Given the description of an element on the screen output the (x, y) to click on. 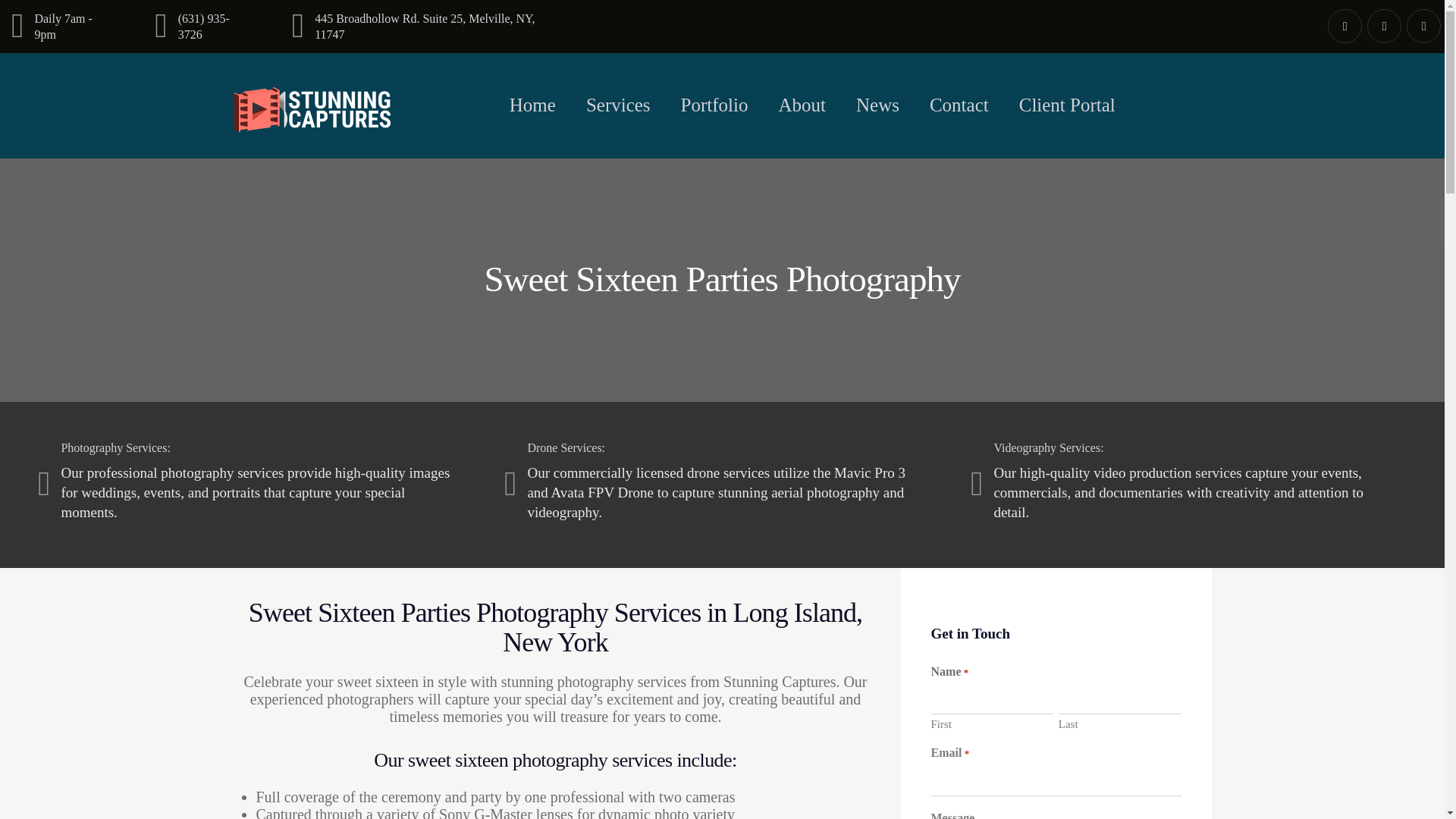
Home (532, 104)
Services (617, 104)
Home (532, 104)
445 Broadhollow Rd. Suite 25, Melville, NY, 11747 (429, 26)
Services (617, 104)
